Given the description of an element on the screen output the (x, y) to click on. 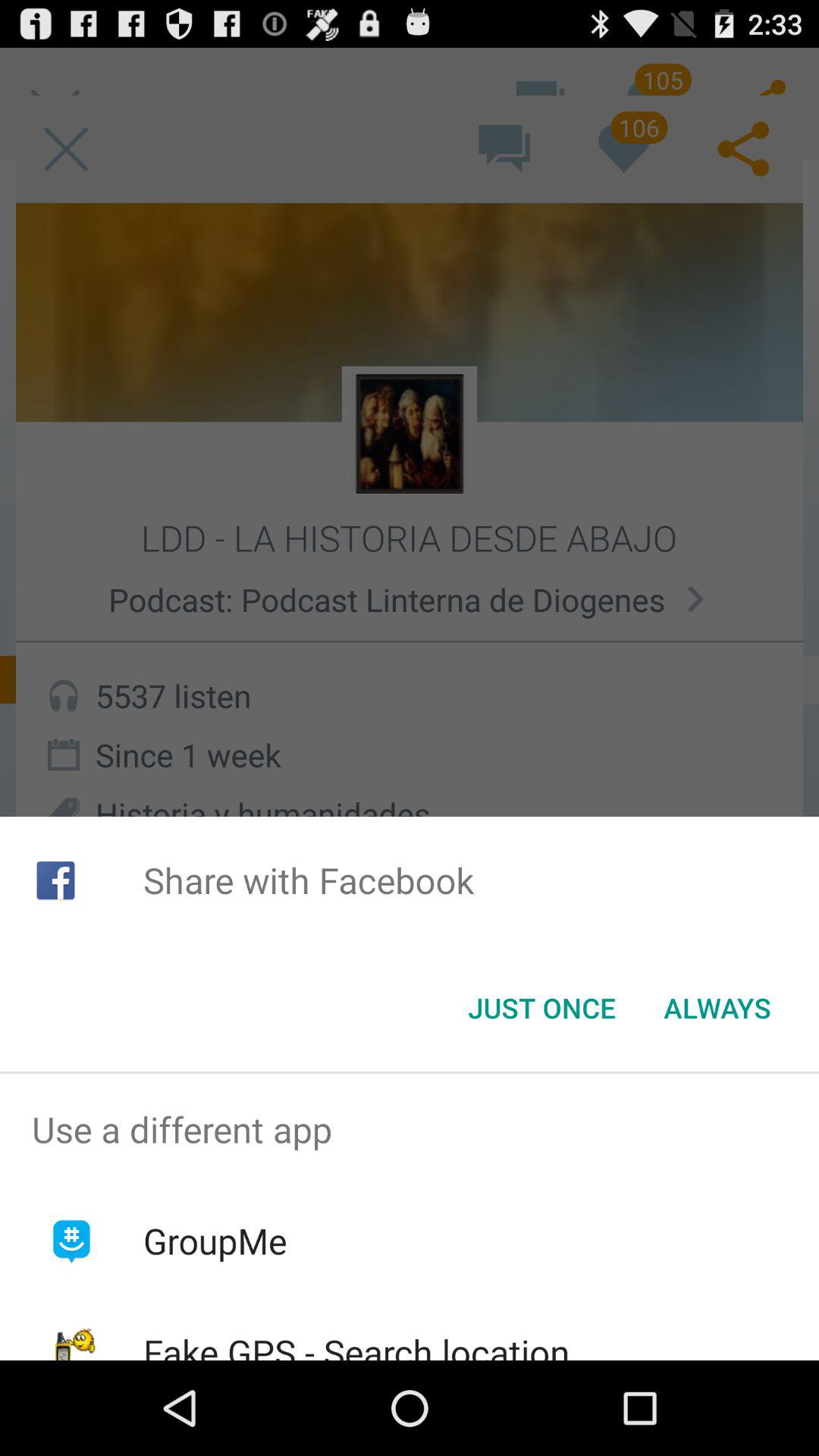
launch item below the use a different icon (215, 1240)
